Given the description of an element on the screen output the (x, y) to click on. 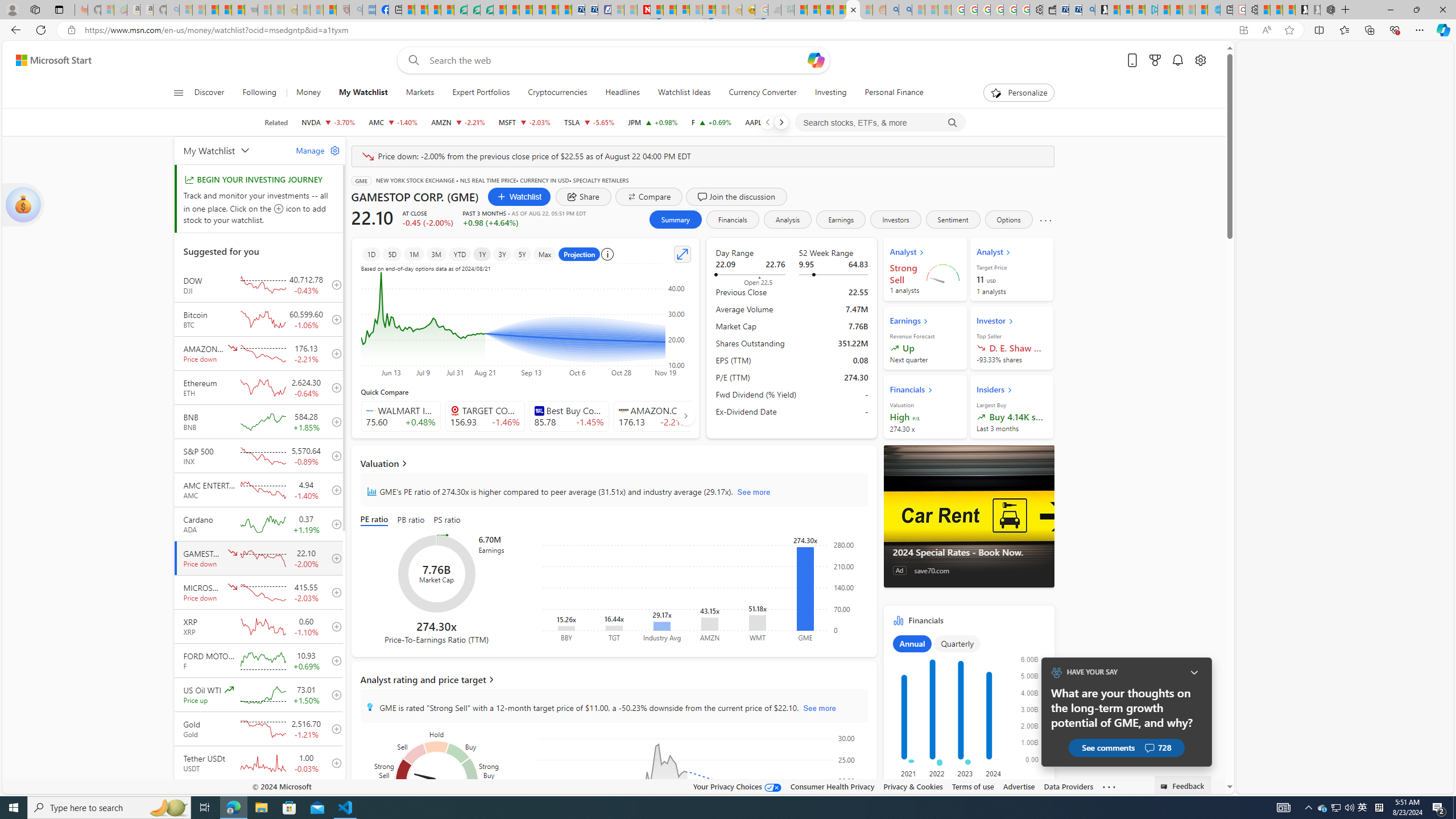
PE ratio (376, 520)
add to your watchlist (333, 797)
Terms of use (973, 785)
Class: chartOuter-DS-EntryPoint1-1 (966, 713)
Previous (767, 122)
